Given the description of an element on the screen output the (x, y) to click on. 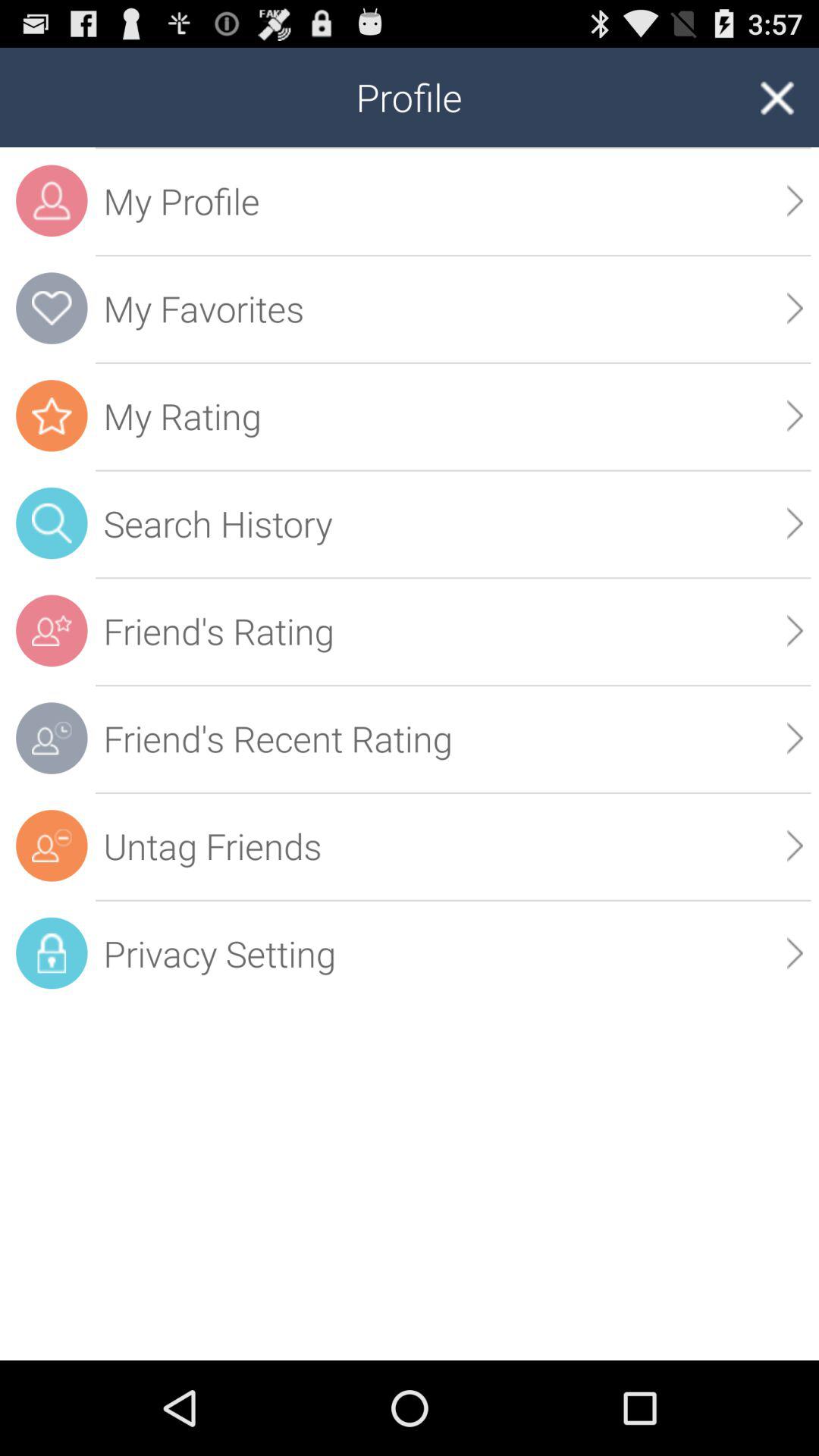
turn off icon above my rating icon (795, 308)
